Given the description of an element on the screen output the (x, y) to click on. 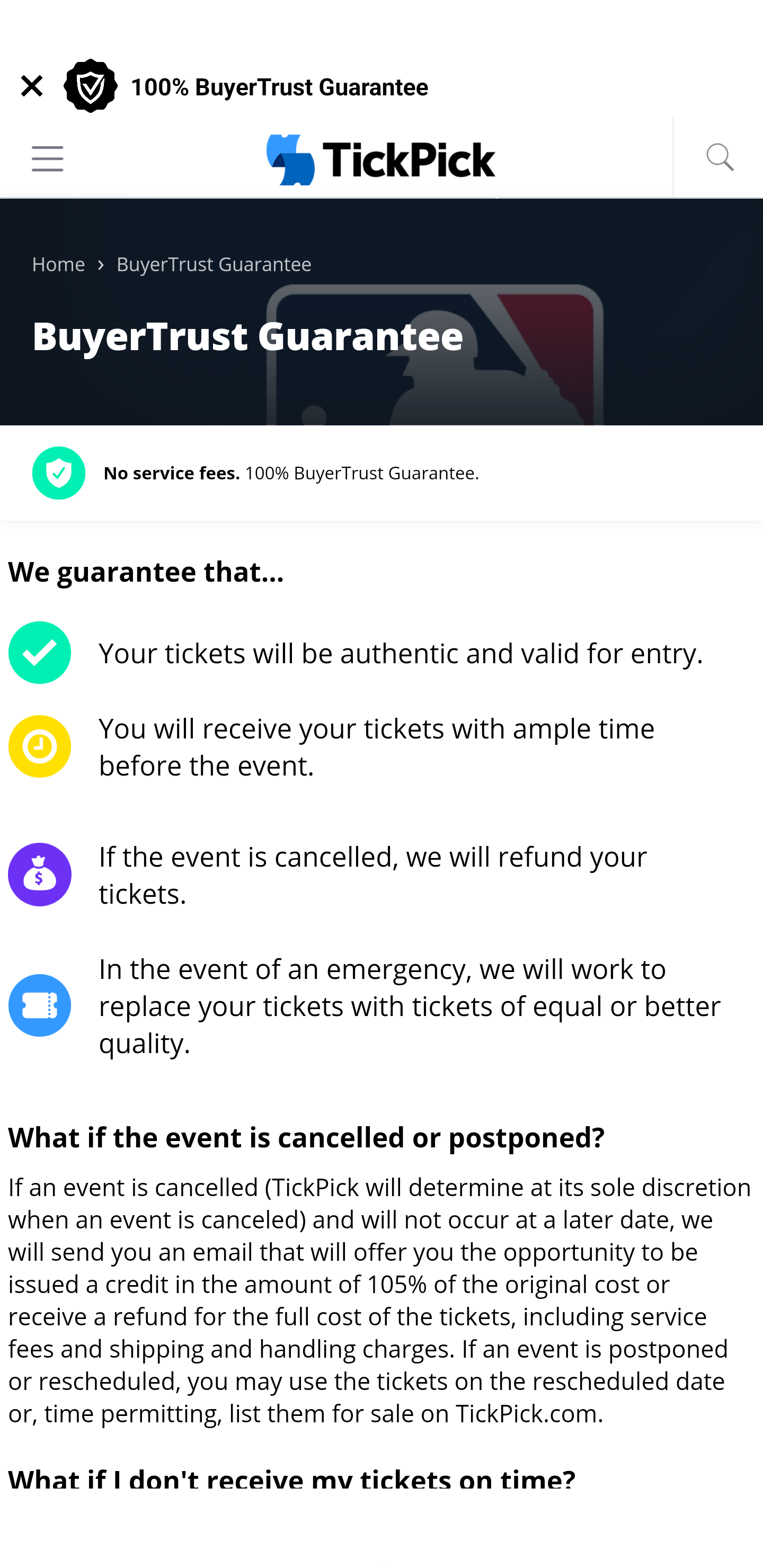
TickPick (381, 159)
Search Icon (720, 156)
Expand Mobile Menu (47, 157)
Home (58, 264)
